Given the description of an element on the screen output the (x, y) to click on. 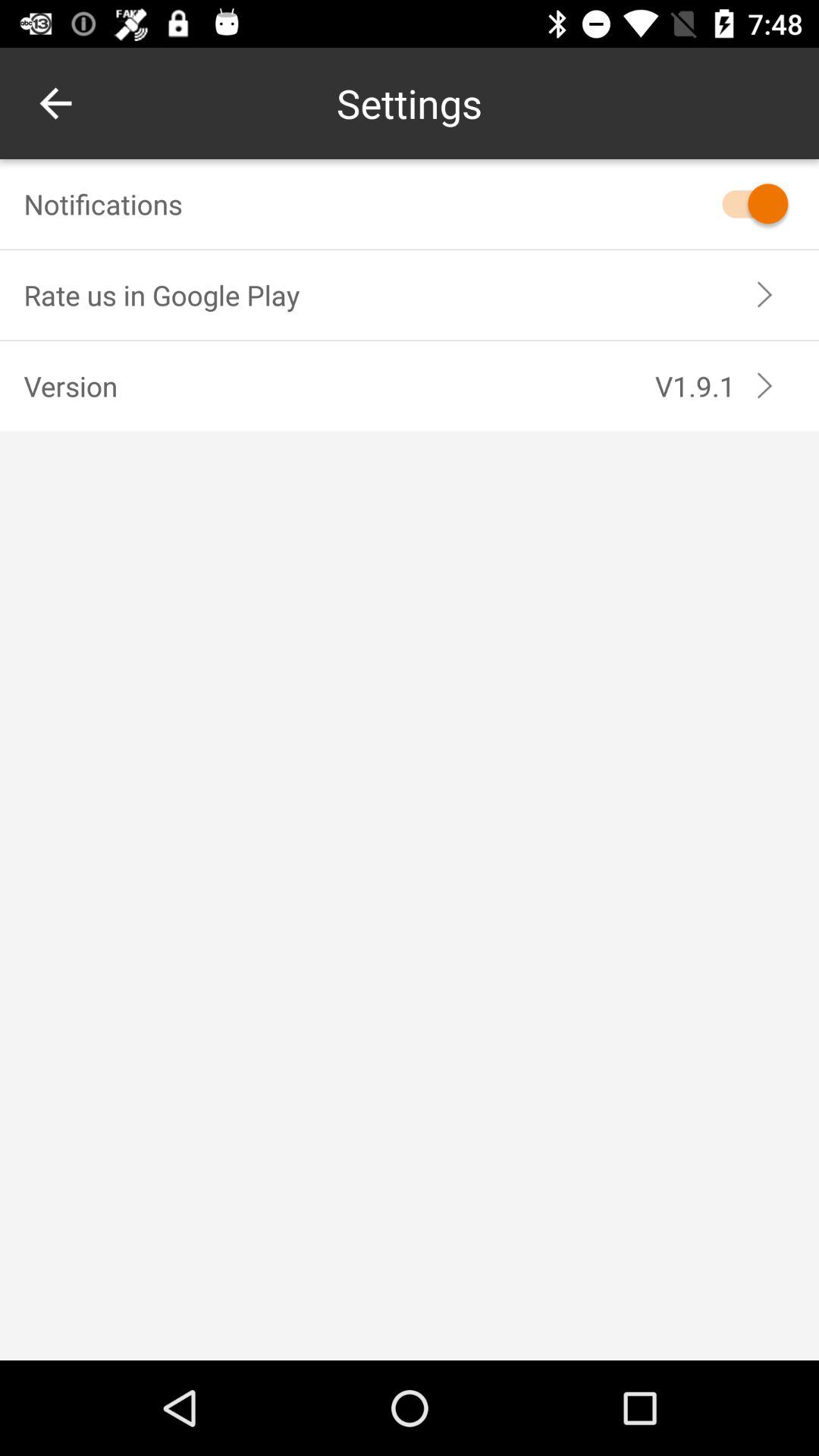
turn on the icon above the notifications item (55, 103)
